Given the description of an element on the screen output the (x, y) to click on. 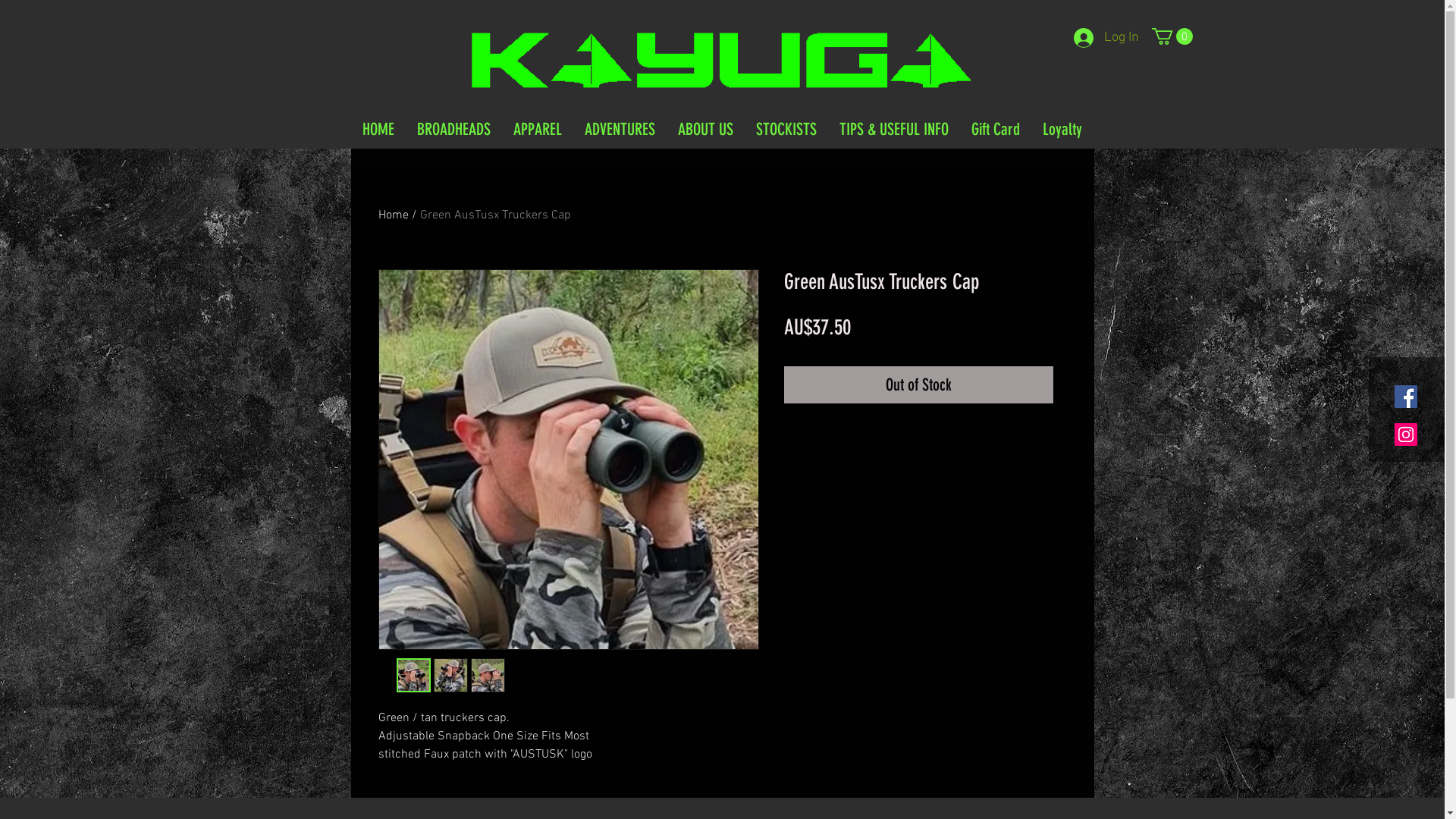
STOCKISTS Element type: text (786, 129)
ADVENTURES Element type: text (619, 129)
TIPS & USEFUL INFO Element type: text (894, 129)
Home Element type: text (392, 214)
ABOUT US Element type: text (704, 129)
BROADHEADS Element type: text (452, 129)
Loyalty Element type: text (1062, 129)
0 Element type: text (1171, 36)
Out of Stock Element type: text (918, 384)
Green AusTusx Truckers Cap Element type: text (495, 214)
Gift Card Element type: text (995, 129)
APPAREL Element type: text (537, 129)
HOME Element type: text (377, 129)
Log In Element type: text (1106, 37)
